Given the description of an element on the screen output the (x, y) to click on. 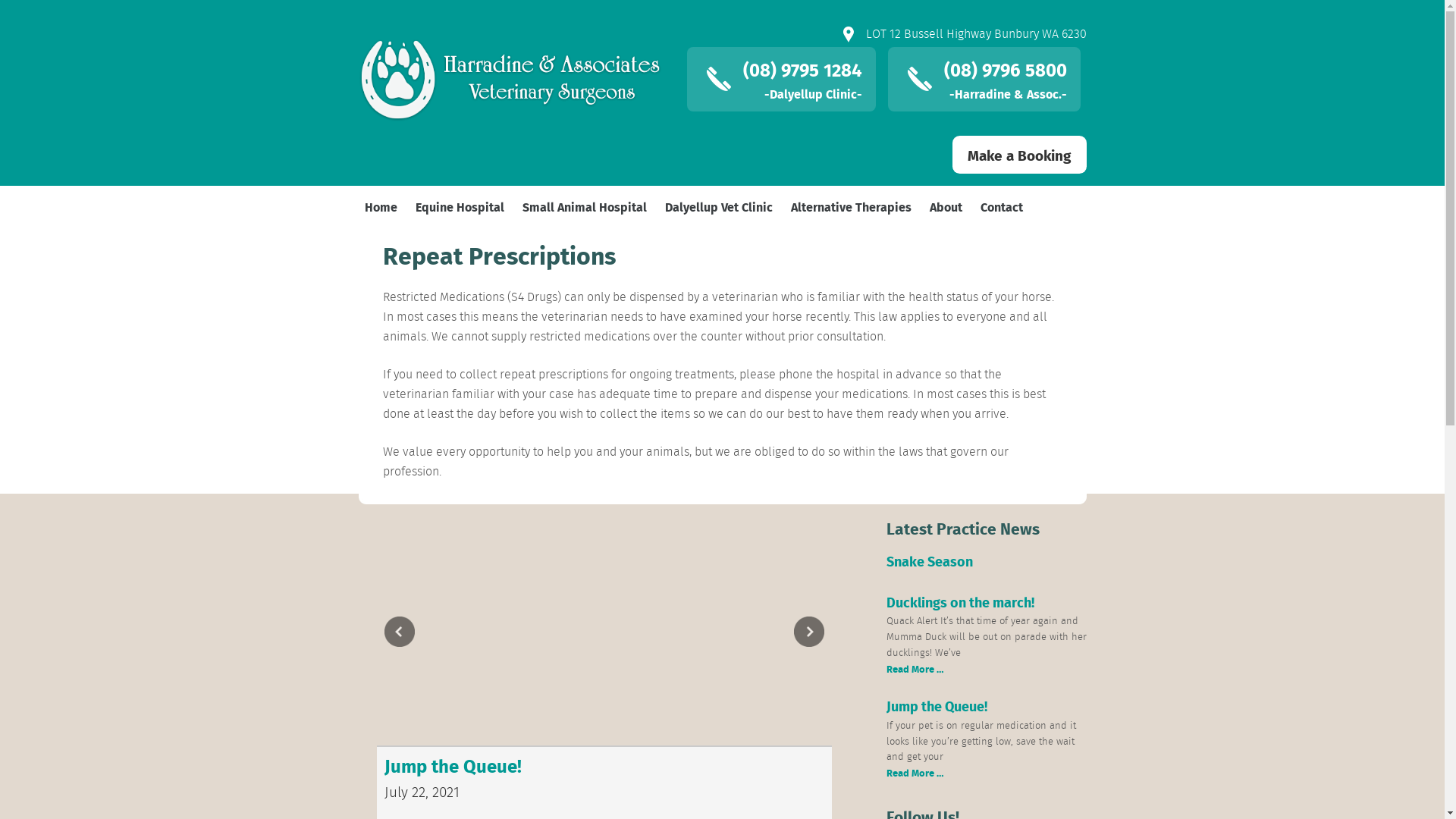
Equine Hospital Element type: text (459, 206)
Ducklings on the march! Element type: text (959, 601)
Jump the Queue! Element type: text (746, 764)
Small Animal Hospital Element type: text (583, 206)
Jump the Queue! Element type: text (935, 705)
(08) 9796 5800
-Harradine & Assoc.- Element type: text (983, 79)
Contact Element type: text (1000, 206)
Alternative Therapies Element type: text (850, 206)
Ducklings on the march! Element type: text (483, 764)
Make a Booking Element type: text (1018, 154)
Snake Season Element type: text (928, 560)
About Element type: text (945, 206)
(08) 9795 1284
-Dalyellup Clinic- Element type: text (781, 79)
Dalyellup Vet Clinic Element type: text (718, 206)
Home Element type: text (379, 206)
